Given the description of an element on the screen output the (x, y) to click on. 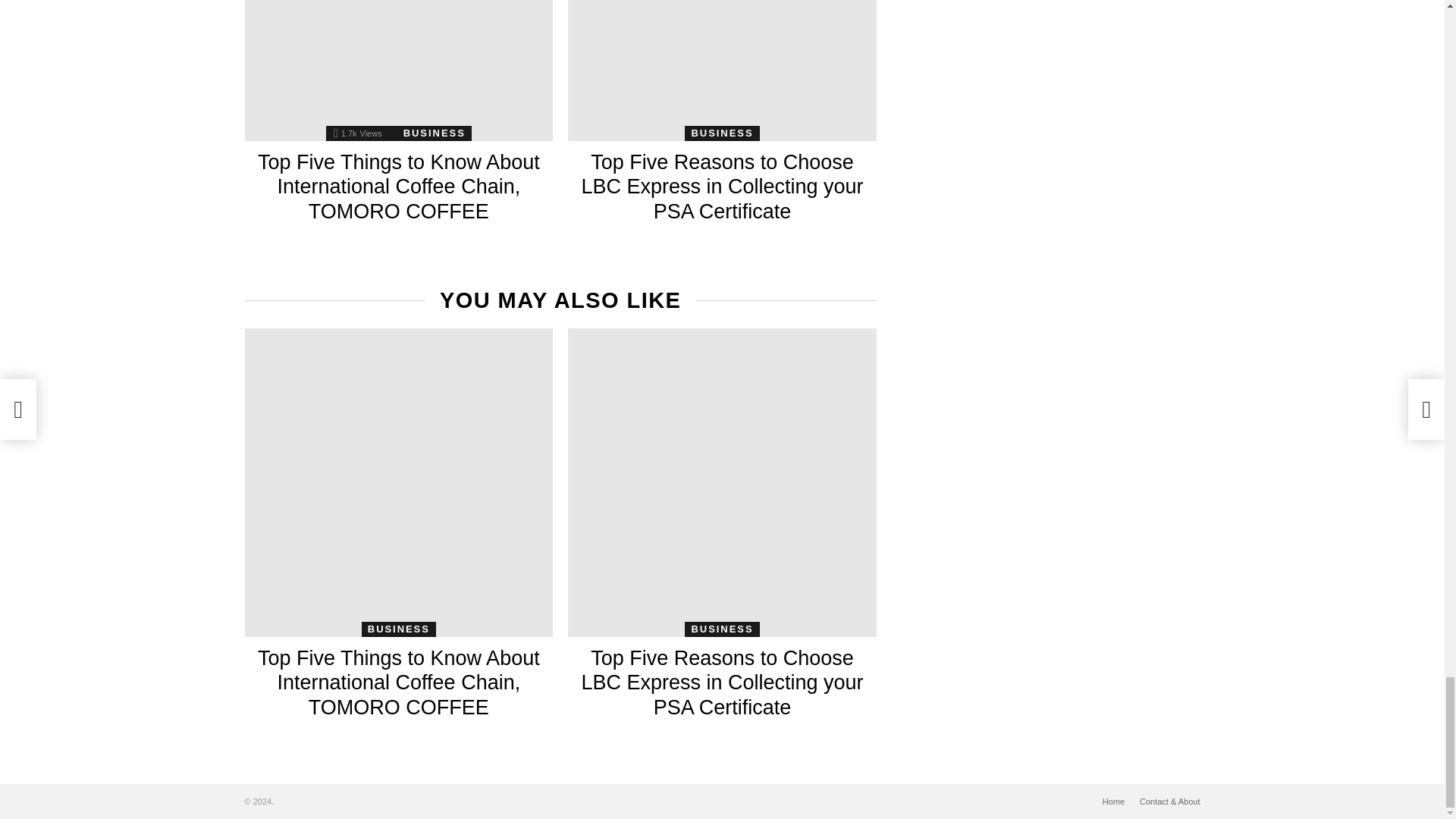
BUSINESS (434, 133)
BUSINESS (721, 133)
